Given the description of an element on the screen output the (x, y) to click on. 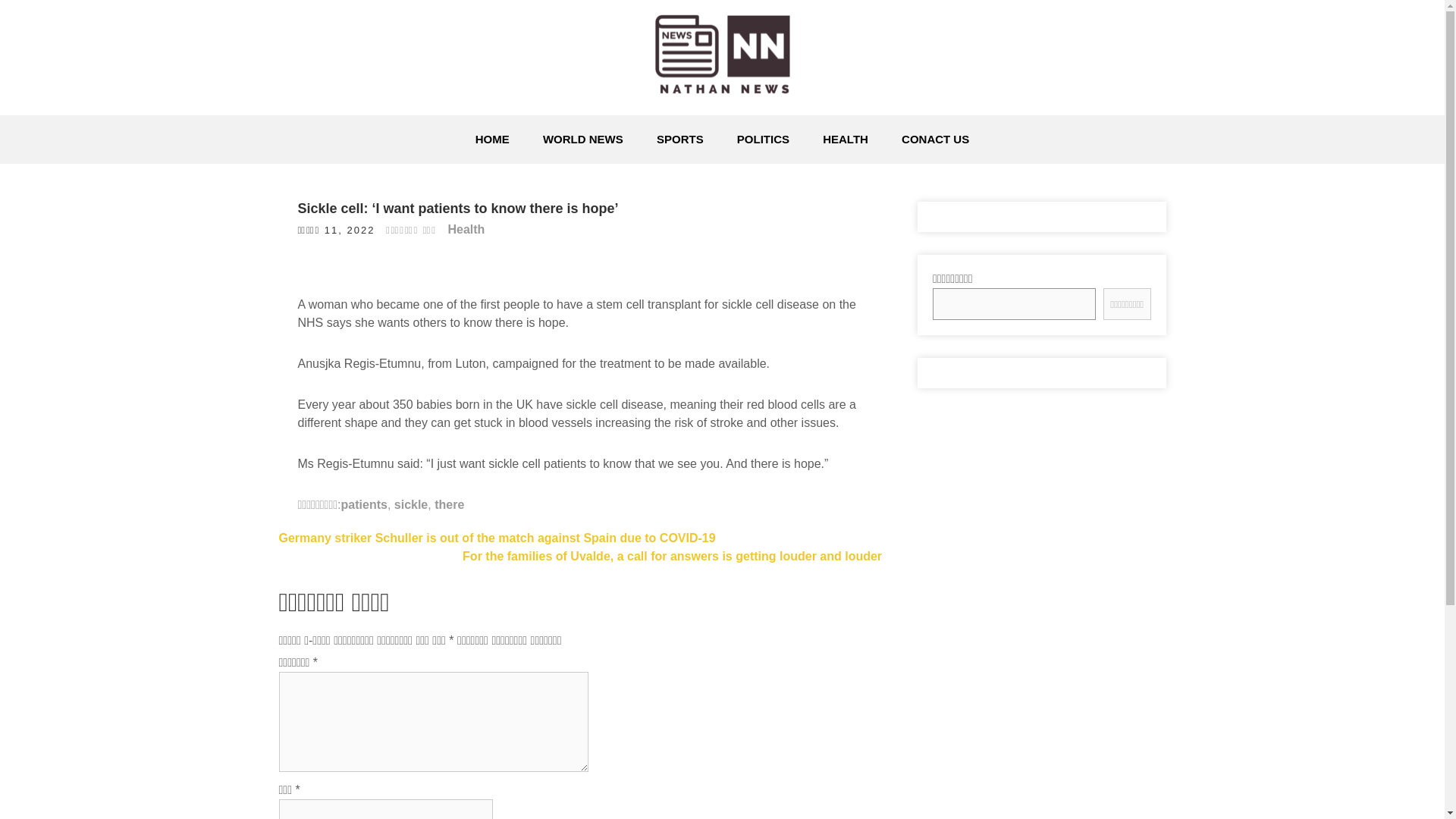
NATHAN NEWS (419, 124)
sickle (411, 504)
WORLD NEWS (583, 139)
CONACT US (935, 139)
there (448, 504)
HOME (492, 139)
Health (465, 228)
SPORTS (680, 139)
POLITICS (763, 139)
patients (363, 504)
HEALTH (845, 139)
